Given the description of an element on the screen output the (x, y) to click on. 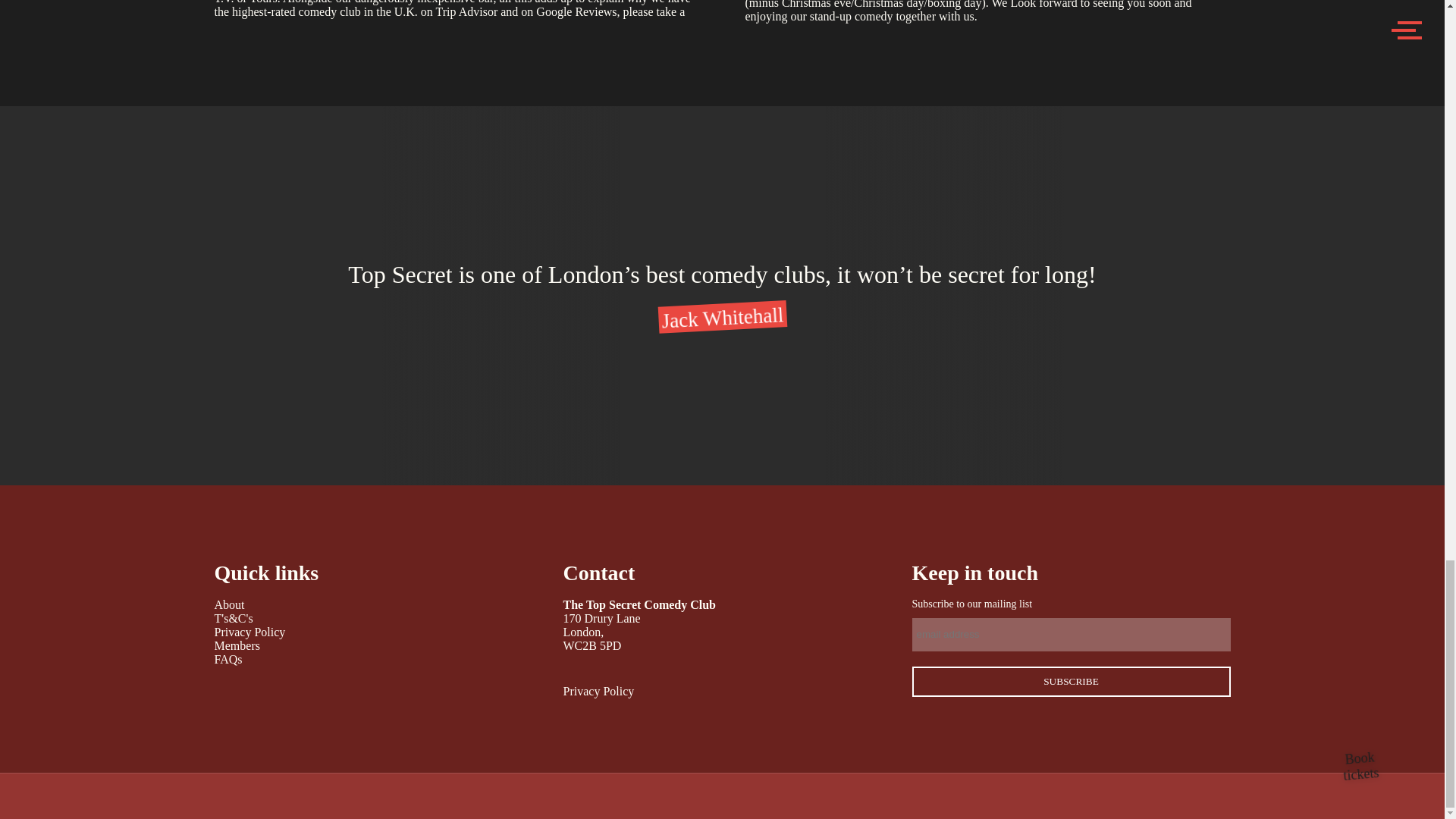
Subscribe (1070, 681)
About (229, 604)
Members (236, 645)
Privacy Policy (249, 631)
Privacy Policy (597, 690)
FAQs (227, 658)
Subscribe (1070, 681)
